Given the description of an element on the screen output the (x, y) to click on. 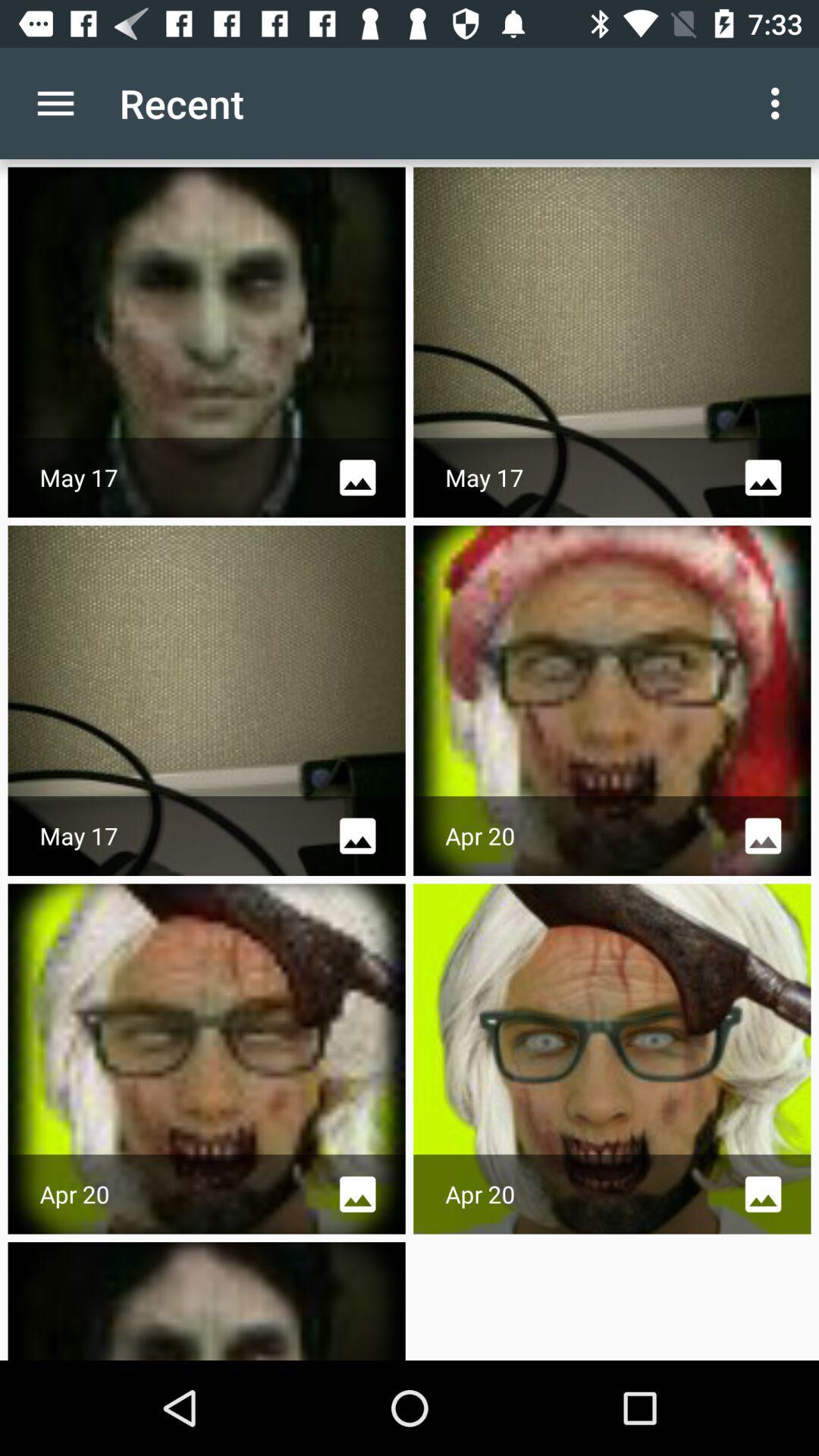
choose icon to the right of recent icon (779, 103)
